Given the description of an element on the screen output the (x, y) to click on. 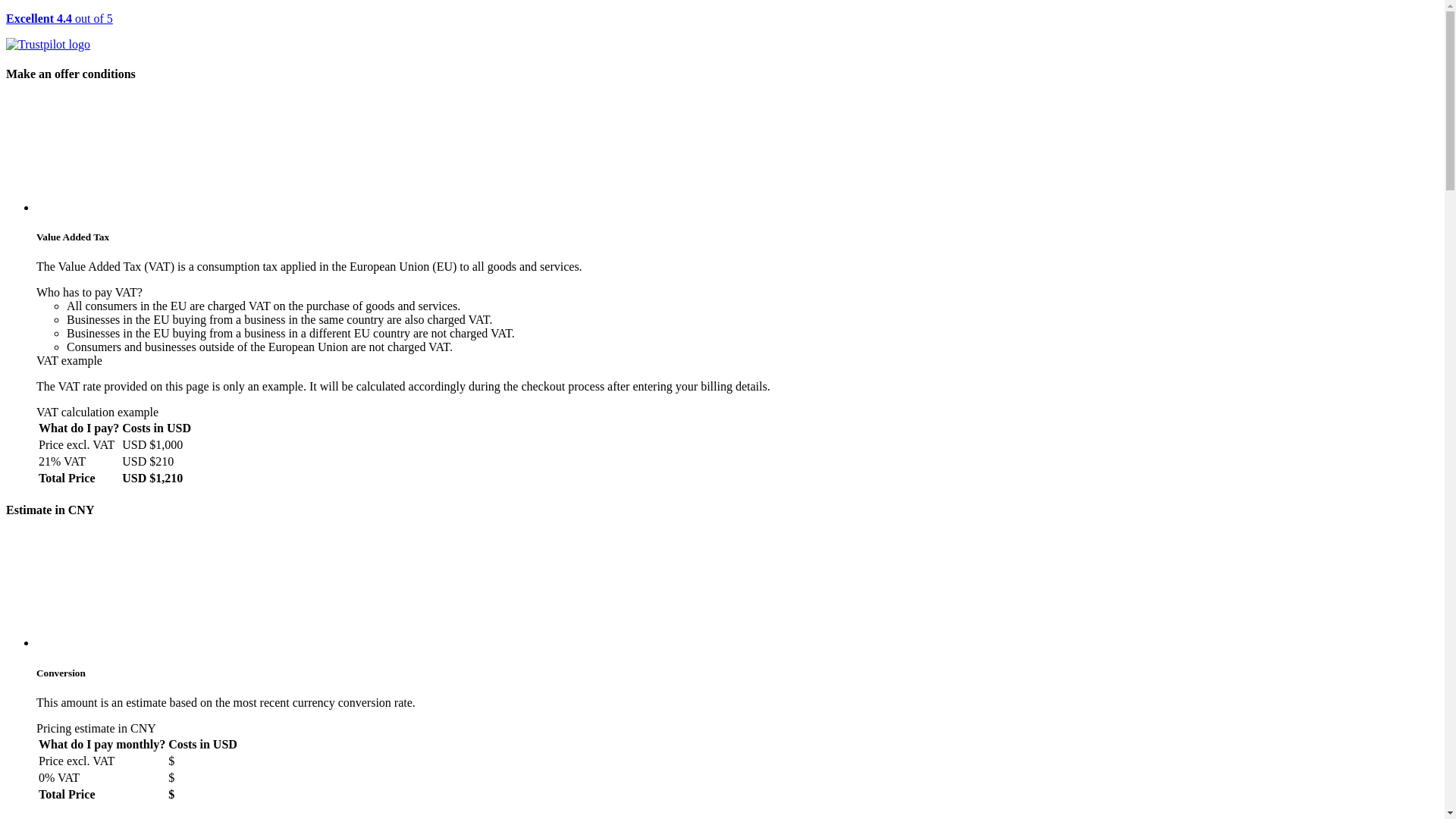
Excellent 4.4 out of 5 Element type: text (722, 31)
